Given the description of an element on the screen output the (x, y) to click on. 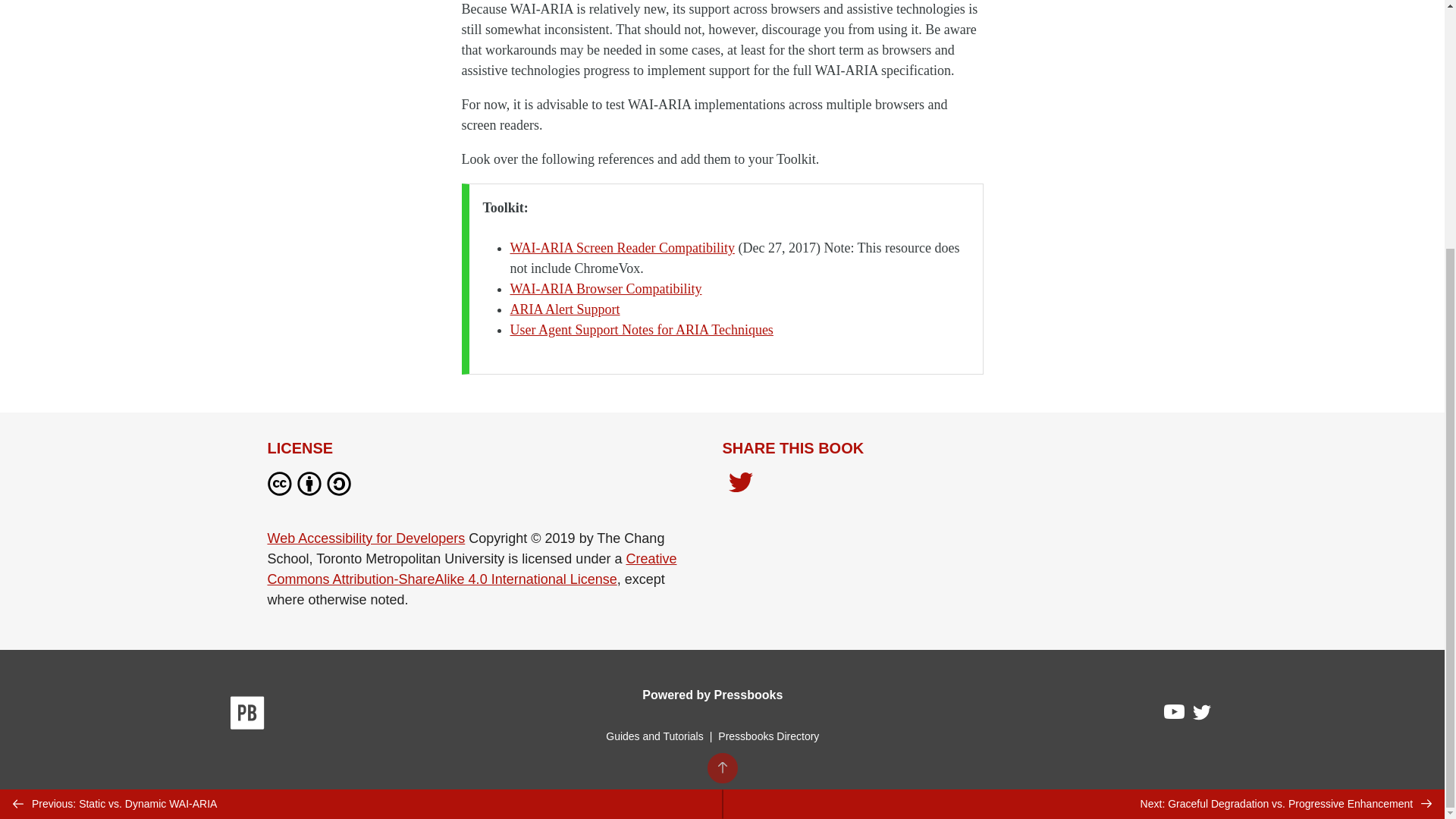
Web Accessibility for Developers (365, 538)
Pressbooks Directory (768, 736)
Guides and Tutorials (654, 736)
WAI-ARIA Browser Compatibility (605, 288)
Pressbooks on YouTube (1174, 715)
Previous: Static vs. Dynamic WAI-ARIA (361, 455)
Share on Twitter (740, 483)
WAI-ARIA Screen Reader Compatibility (621, 247)
BACK TO TOP (721, 419)
